Given the description of an element on the screen output the (x, y) to click on. 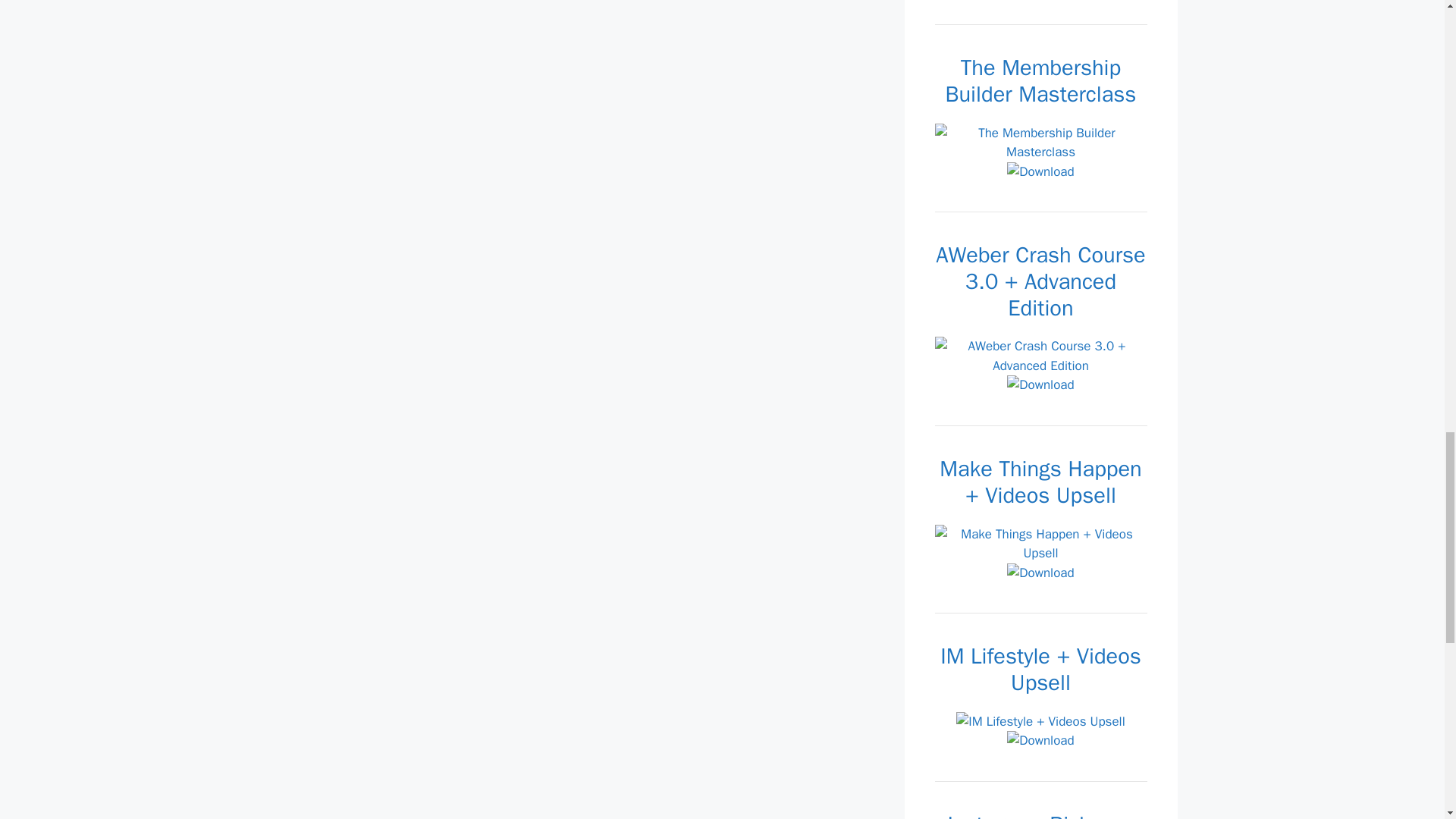
The Membership Builder Masterclass (1040, 142)
